Given the description of an element on the screen output the (x, y) to click on. 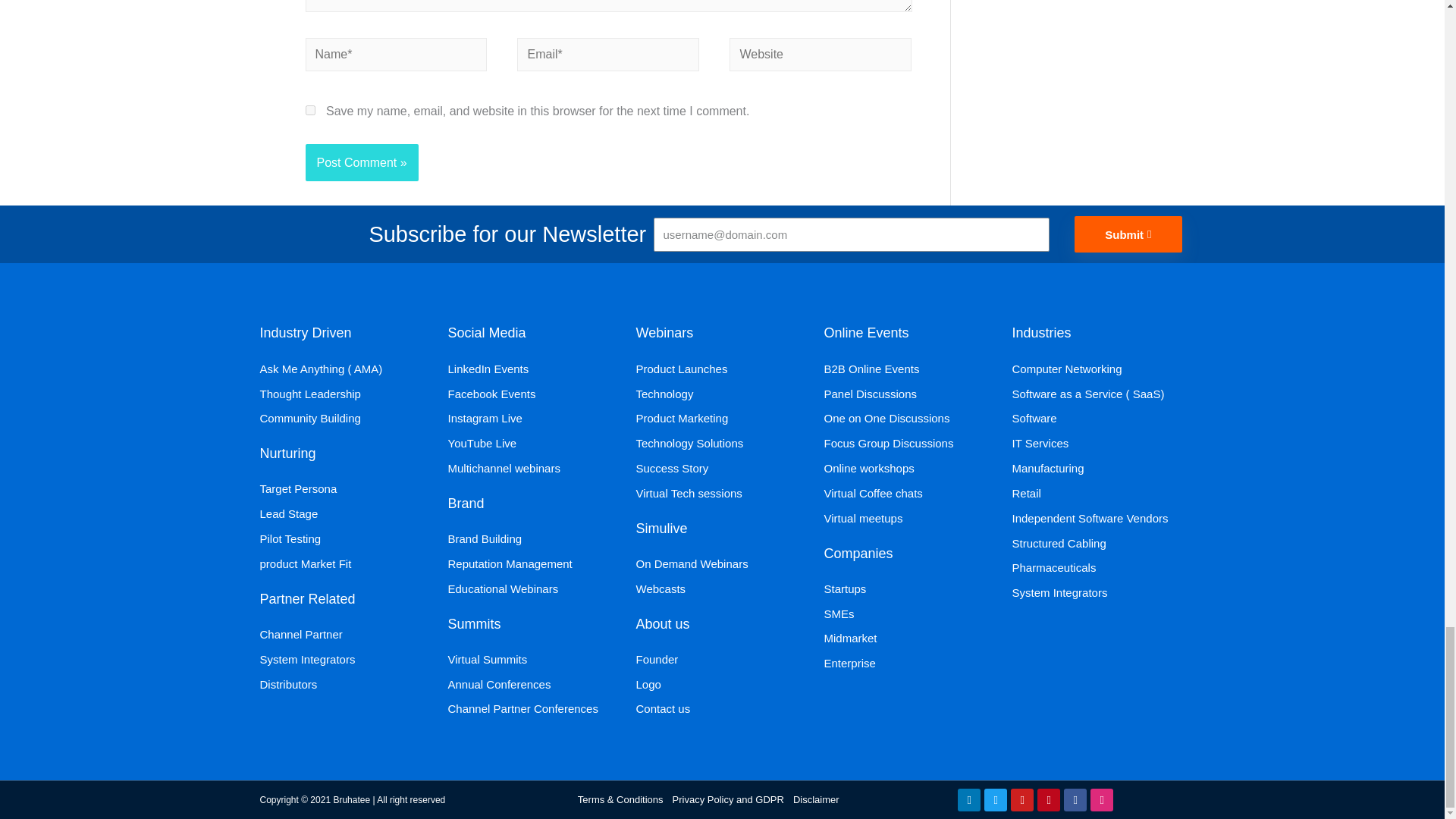
yes (309, 110)
